Given the description of an element on the screen output the (x, y) to click on. 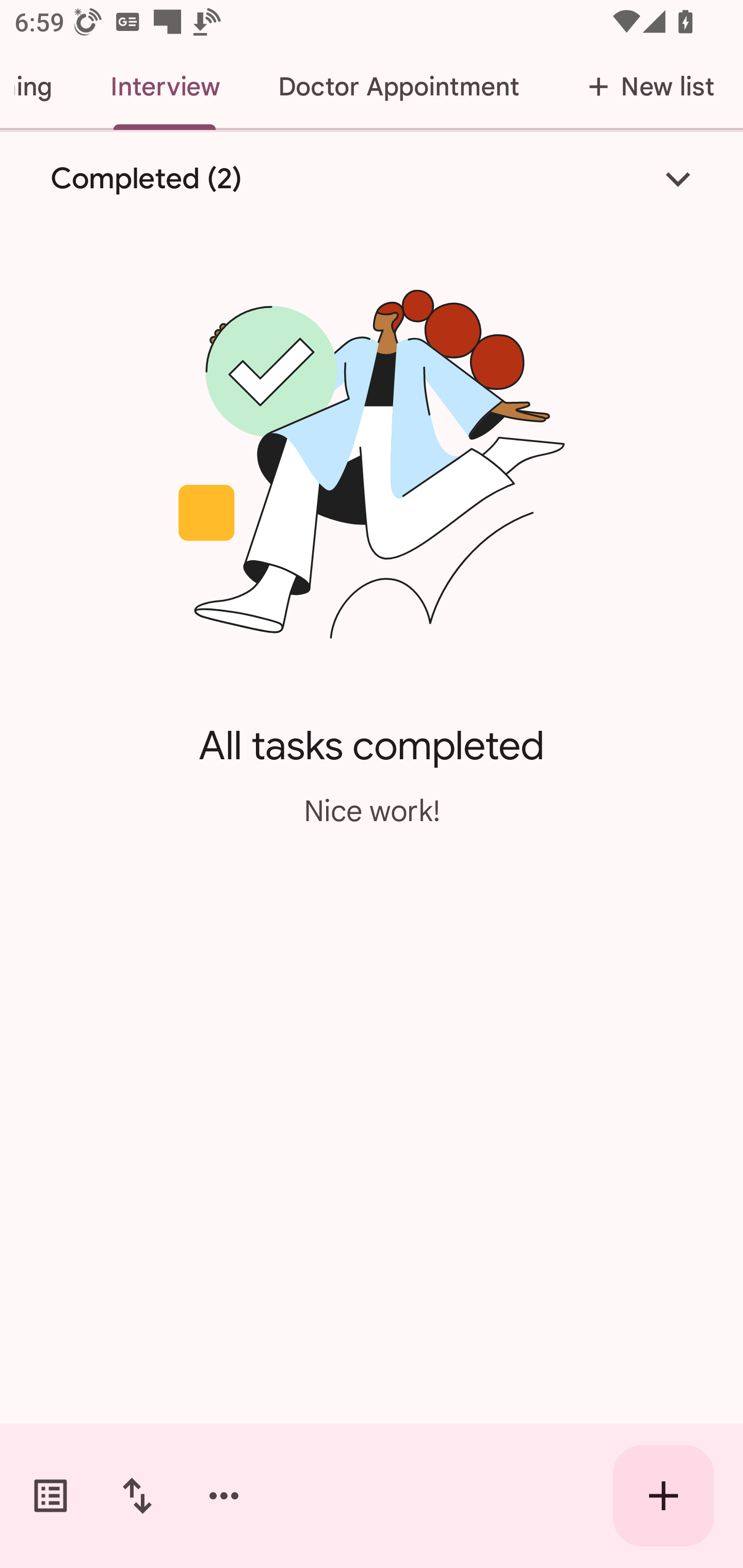
Doctor Appointment (398, 86)
New list (645, 86)
Completed (2) (371, 178)
Switch task lists (50, 1495)
Create new task (663, 1495)
Change sort order (136, 1495)
More options (223, 1495)
